Given the description of an element on the screen output the (x, y) to click on. 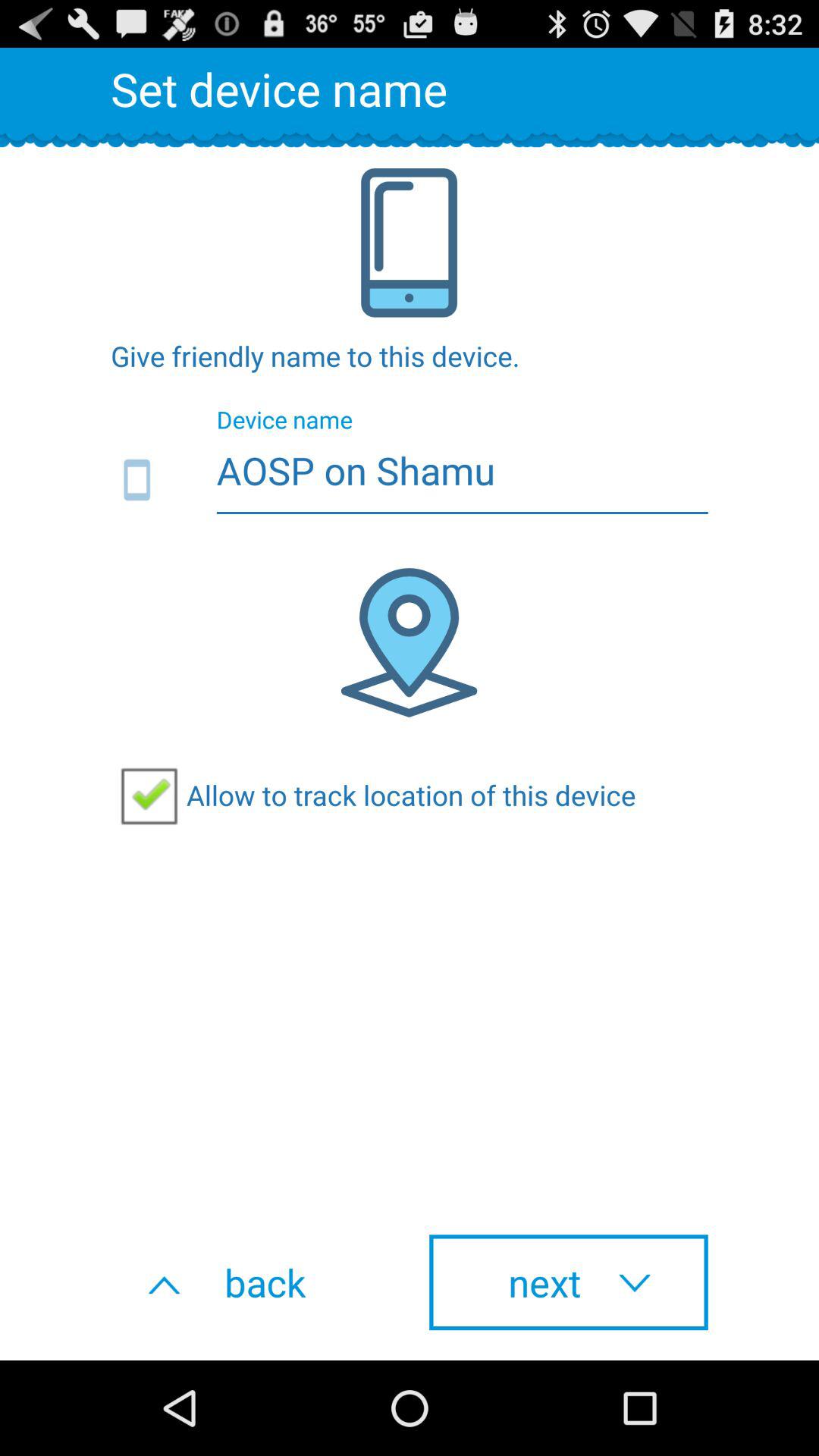
open icon to the right of back icon (568, 1282)
